Given the description of an element on the screen output the (x, y) to click on. 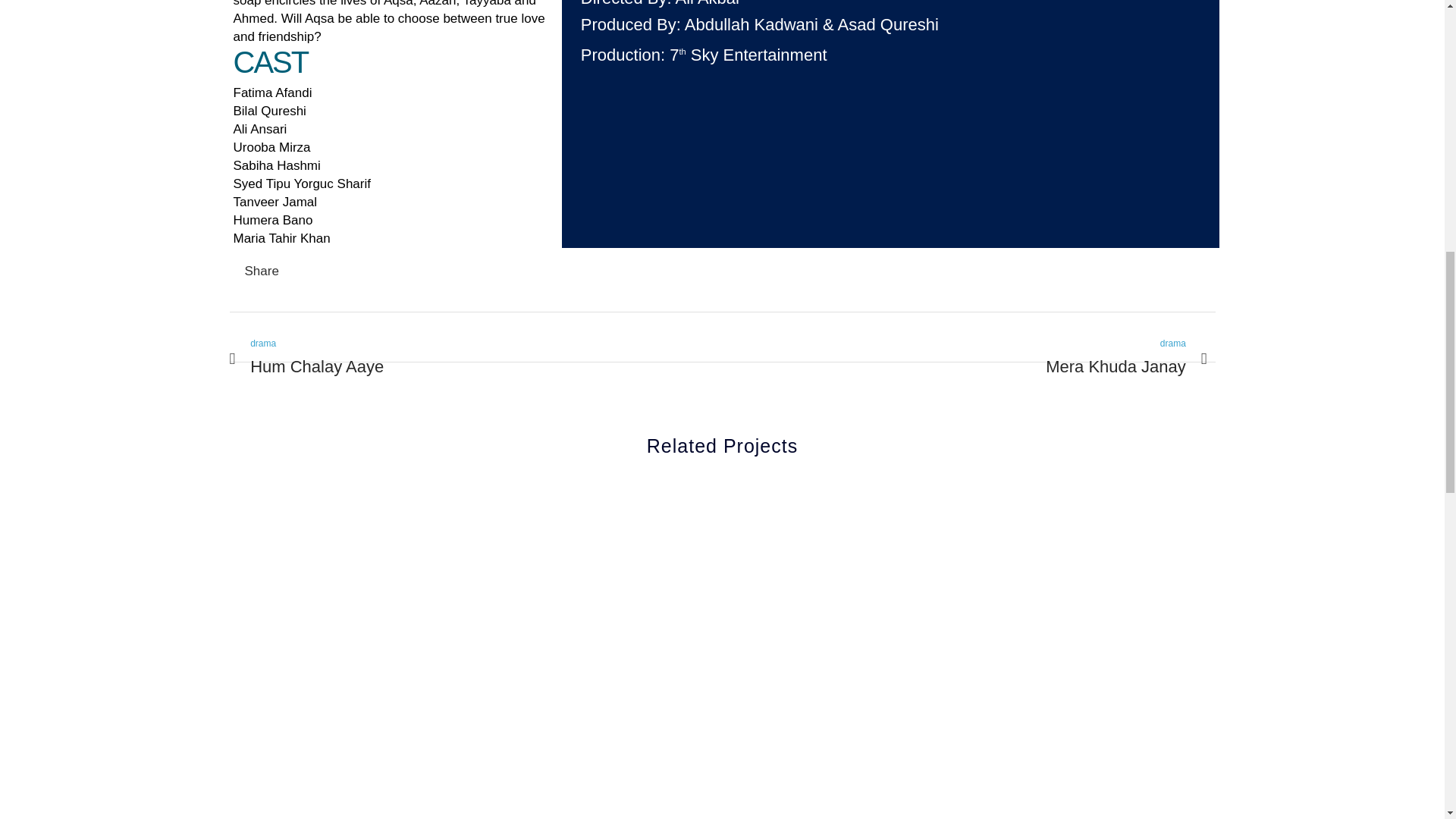
Share (1126, 359)
